Given the description of an element on the screen output the (x, y) to click on. 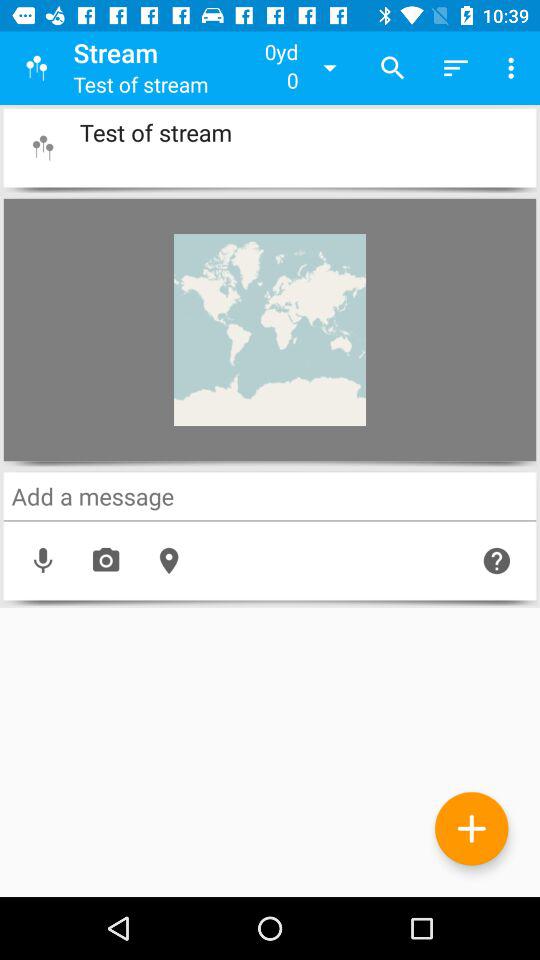
go to sharch button (269, 496)
